Given the description of an element on the screen output the (x, y) to click on. 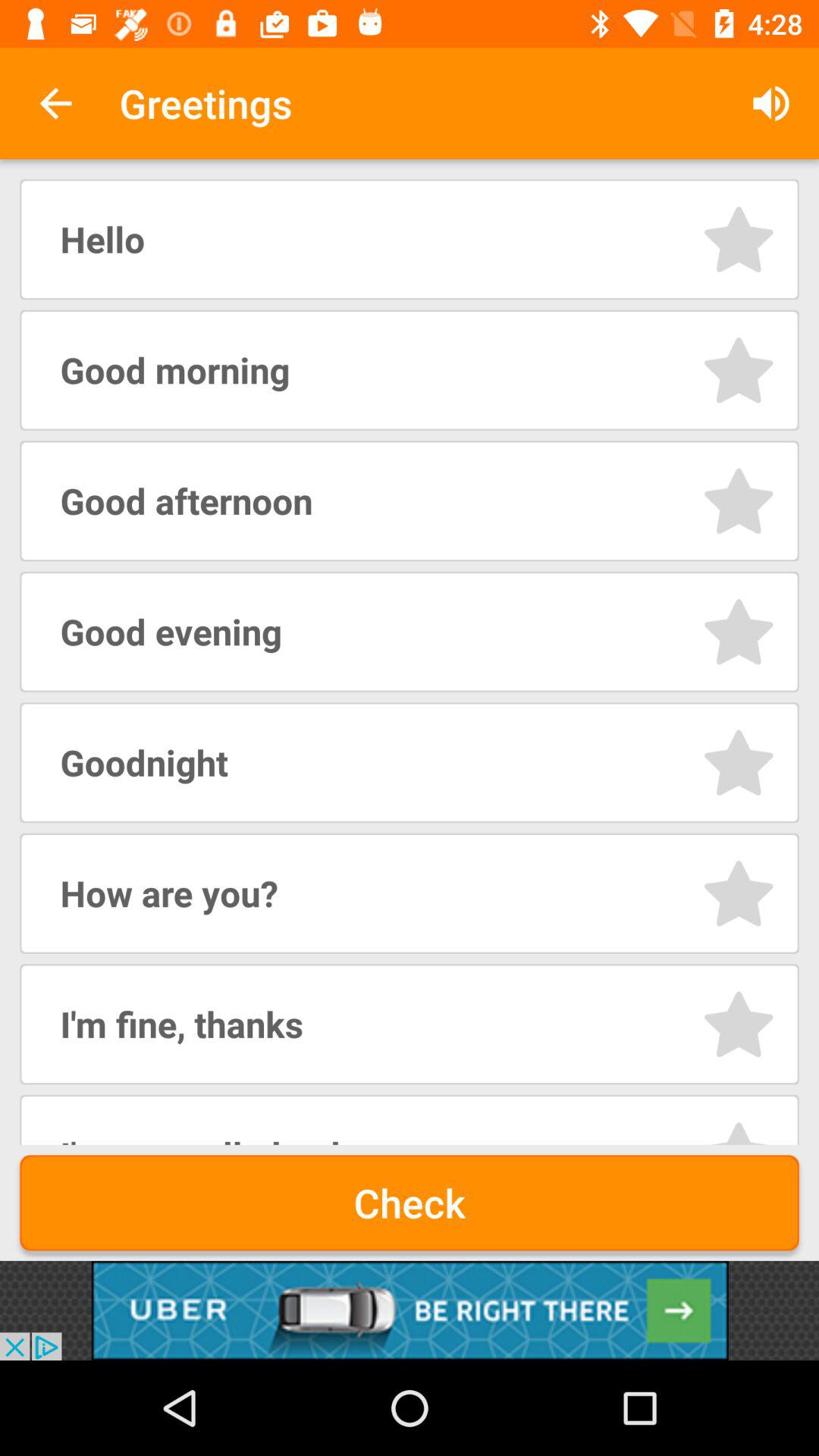
select option (738, 370)
